Given the description of an element on the screen output the (x, y) to click on. 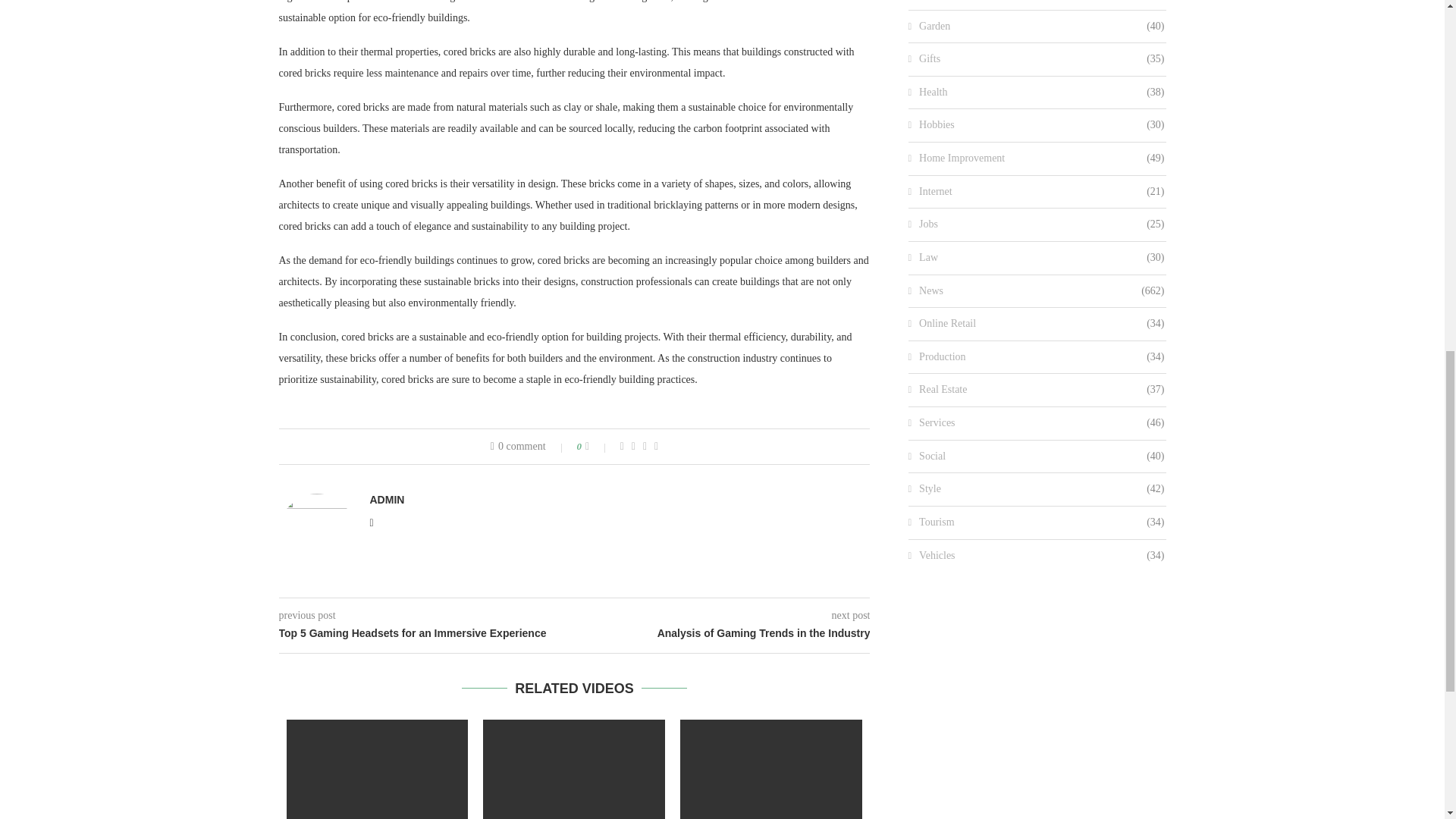
How to Edit Photos to Enhance Emotional Impact (377, 769)
ADMIN (386, 499)
Author admin (386, 499)
Like (597, 446)
